Given the description of an element on the screen output the (x, y) to click on. 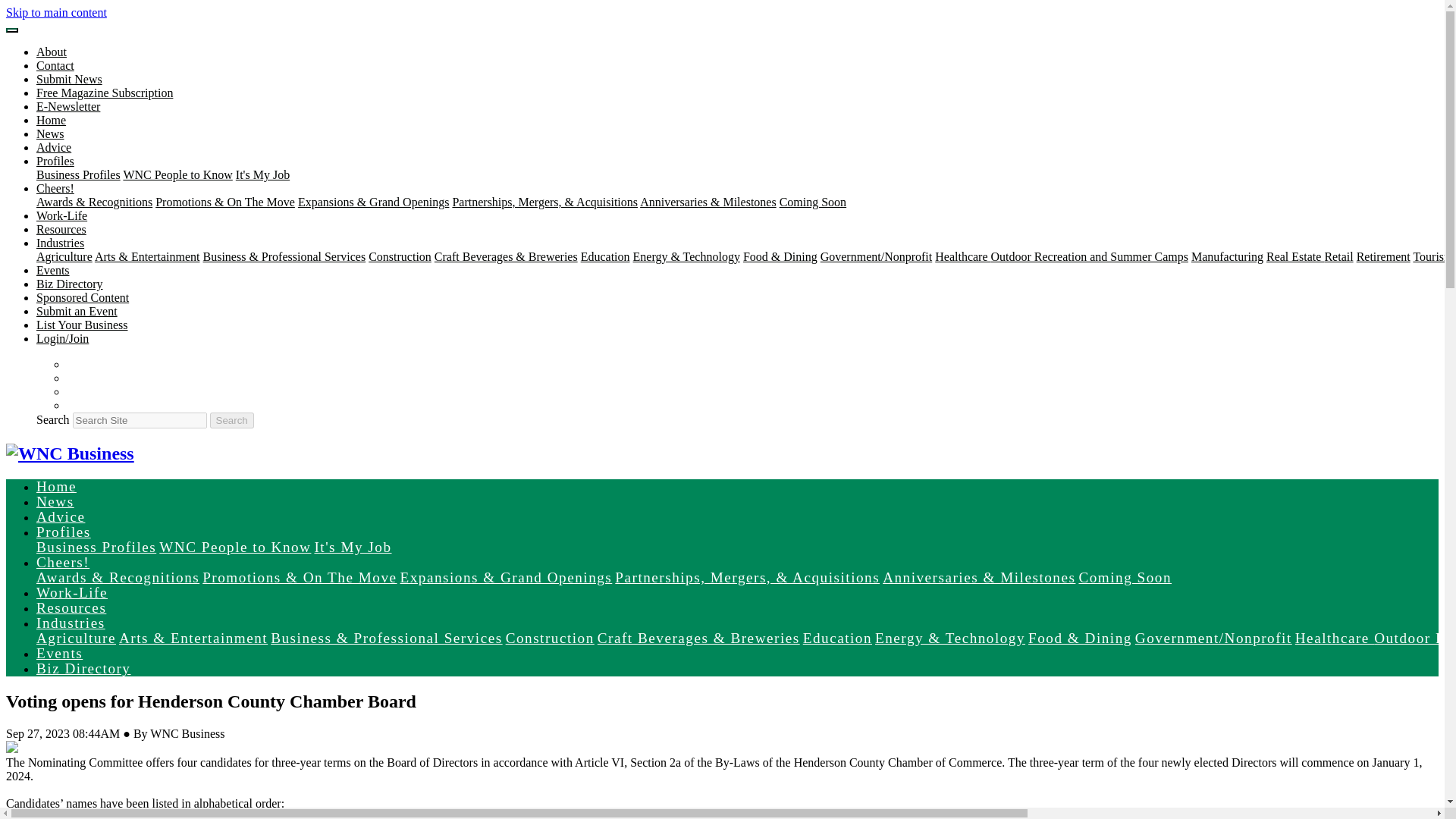
About (51, 51)
Construction (399, 256)
Business Profiles (78, 174)
Agriculture (64, 256)
Real Estate (1294, 256)
Profiles (55, 160)
Healthcare (962, 256)
Retail (1337, 256)
Coming Soon (811, 201)
Manufacturing (1227, 256)
